Given the description of an element on the screen output the (x, y) to click on. 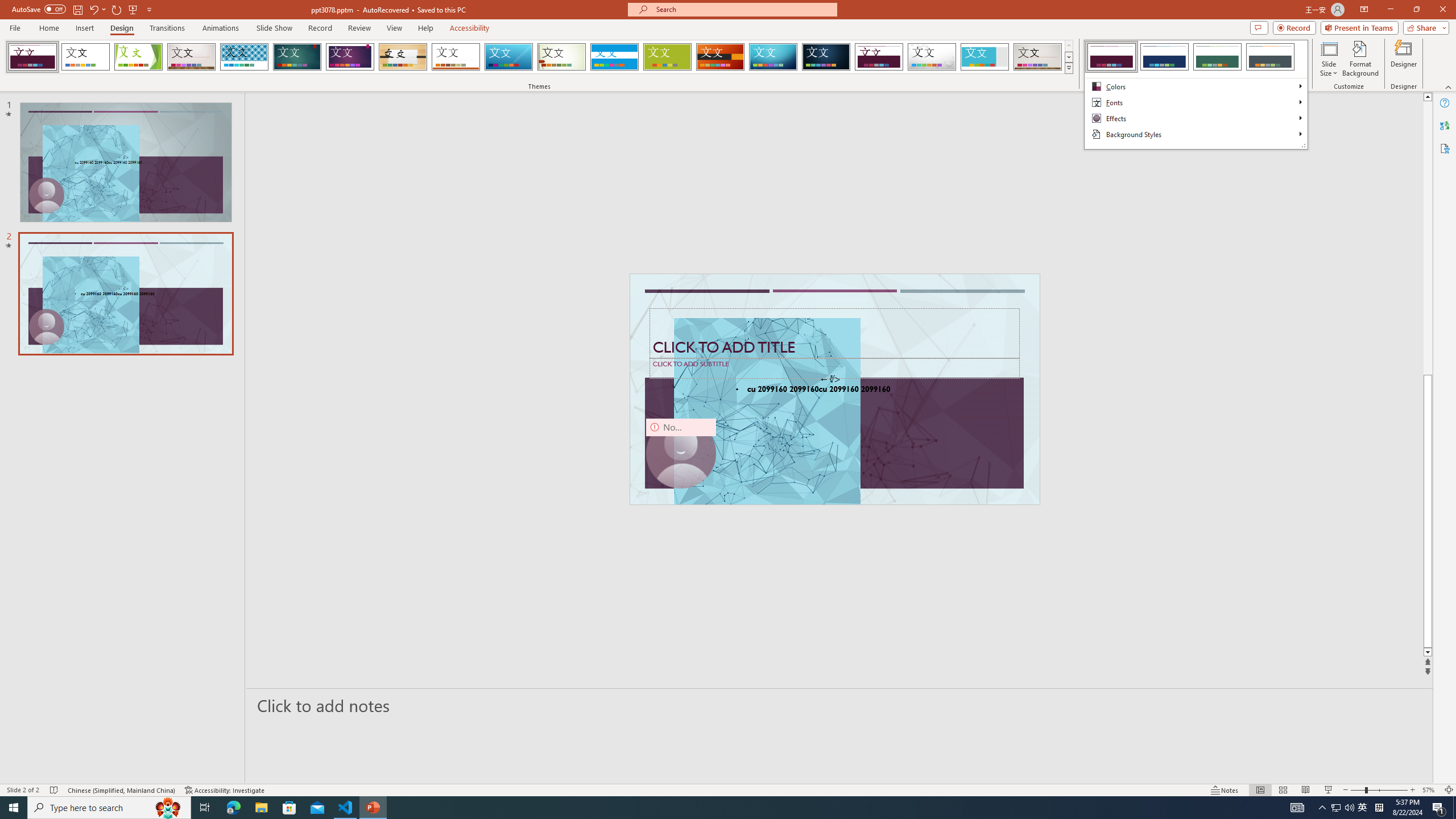
Microsoft Edge (233, 807)
Wisp (561, 56)
Droplet (931, 56)
Title TextBox (834, 332)
